Given the description of an element on the screen output the (x, y) to click on. 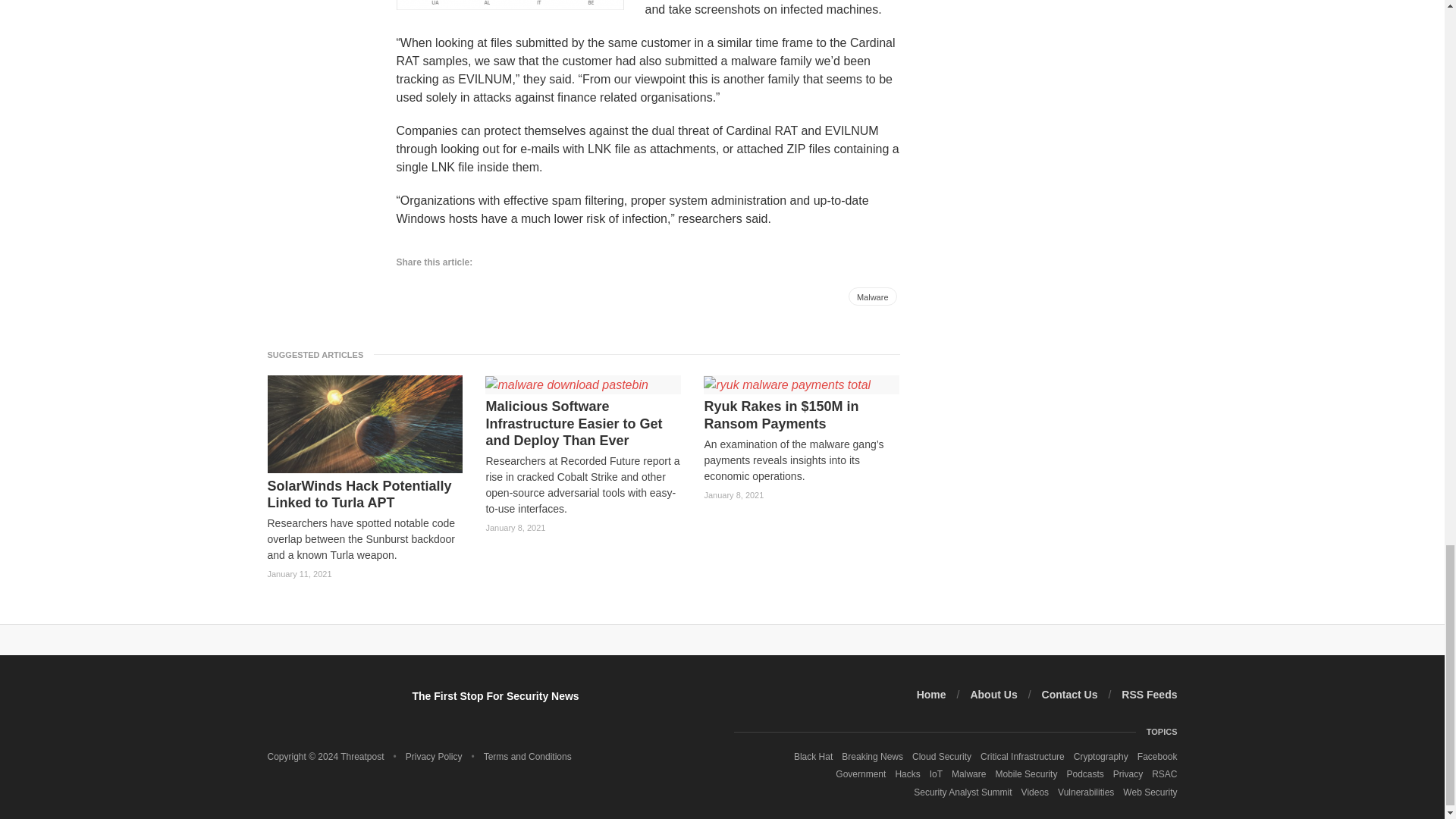
Malware (872, 296)
SolarWinds Hack Potentially Linked to Turla APT (364, 494)
SUGGESTED ARTICLES (319, 354)
